Given the description of an element on the screen output the (x, y) to click on. 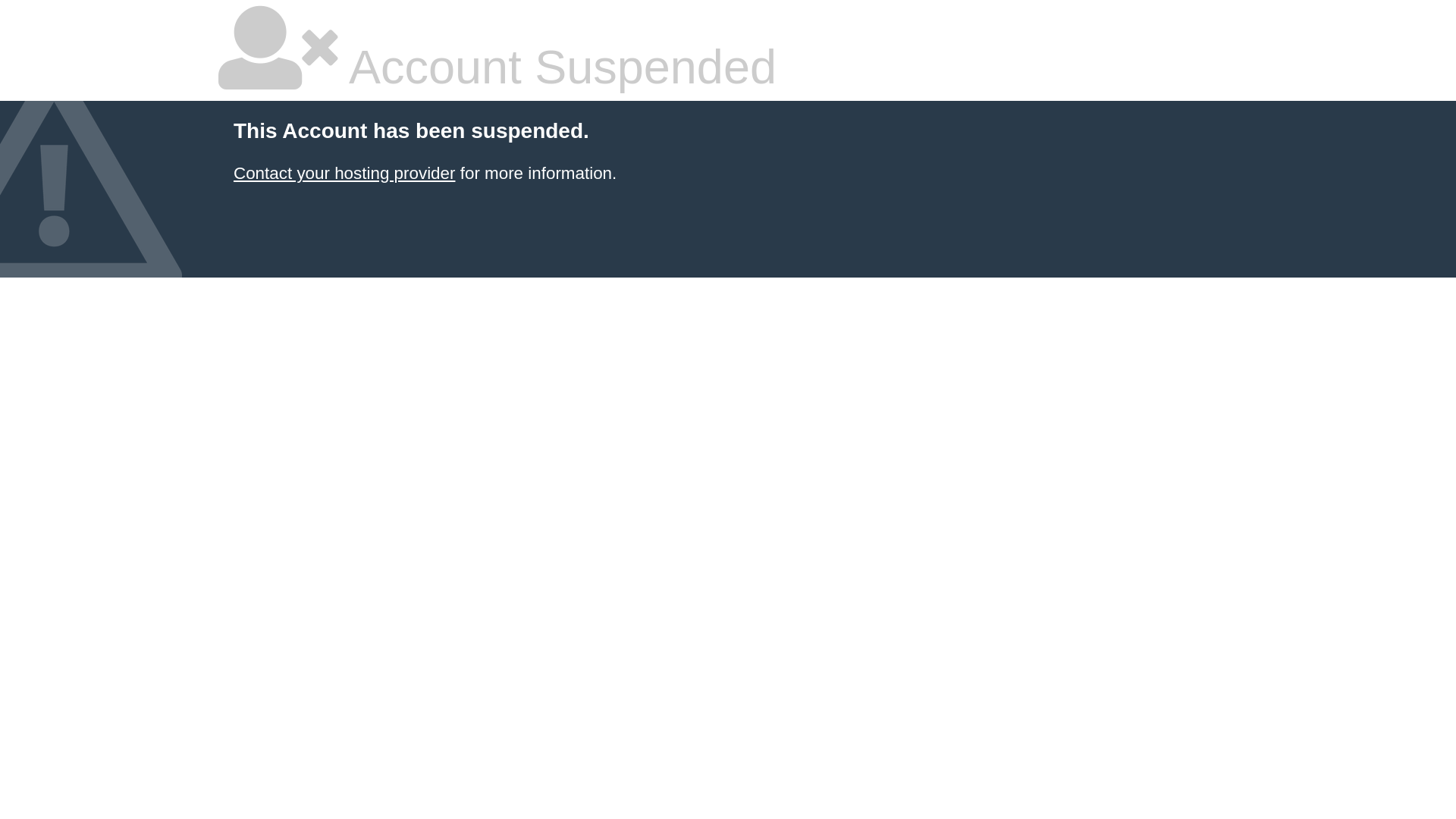
Contact your hosting provider Element type: text (344, 172)
